Given the description of an element on the screen output the (x, y) to click on. 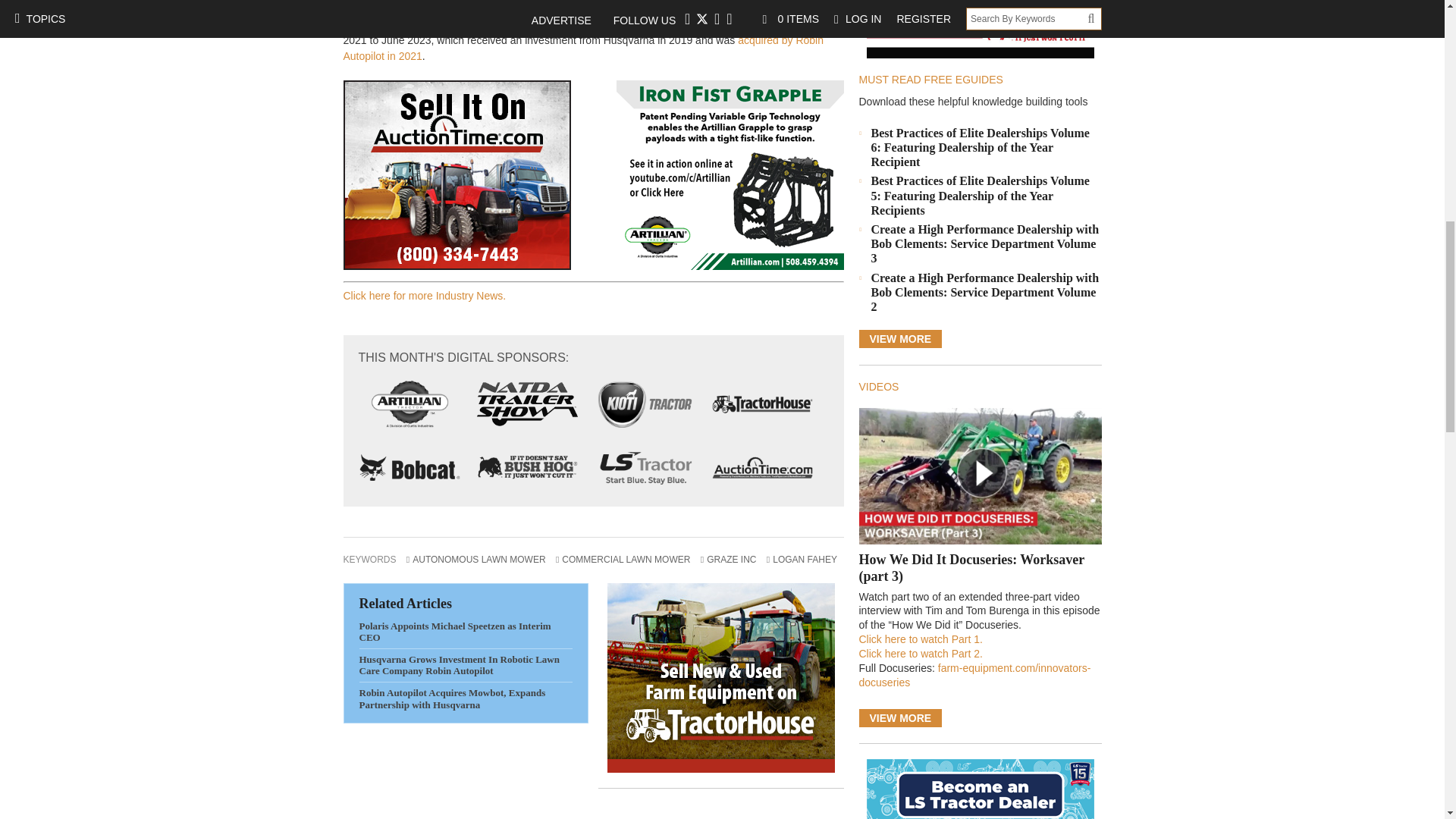
NATDA Trailer Show (526, 403)
Curtis Industries (729, 175)
Artillian by Curtis Industries (409, 403)
AuctionTime (456, 175)
